Given the description of an element on the screen output the (x, y) to click on. 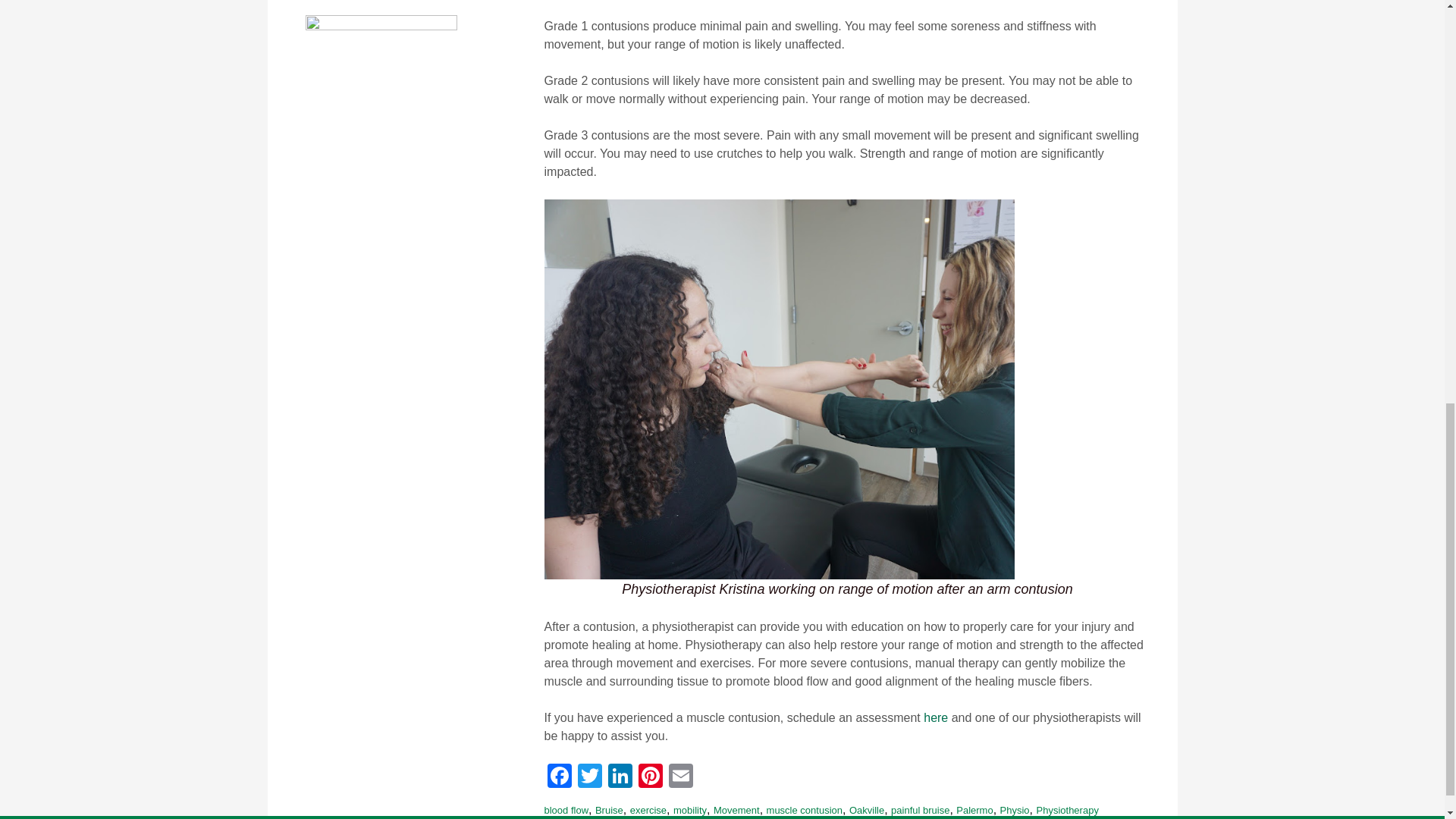
muscle contusion (805, 809)
Movement (736, 809)
Physio (1014, 809)
Palermo (974, 809)
Facebook (559, 777)
LinkedIn (619, 777)
Oakville (865, 809)
Email (680, 777)
Bruise (609, 809)
here (935, 717)
Pinterest (649, 777)
Physiotherapy (1066, 809)
mobility (689, 809)
Facebook (559, 777)
exercise (648, 809)
